Given the description of an element on the screen output the (x, y) to click on. 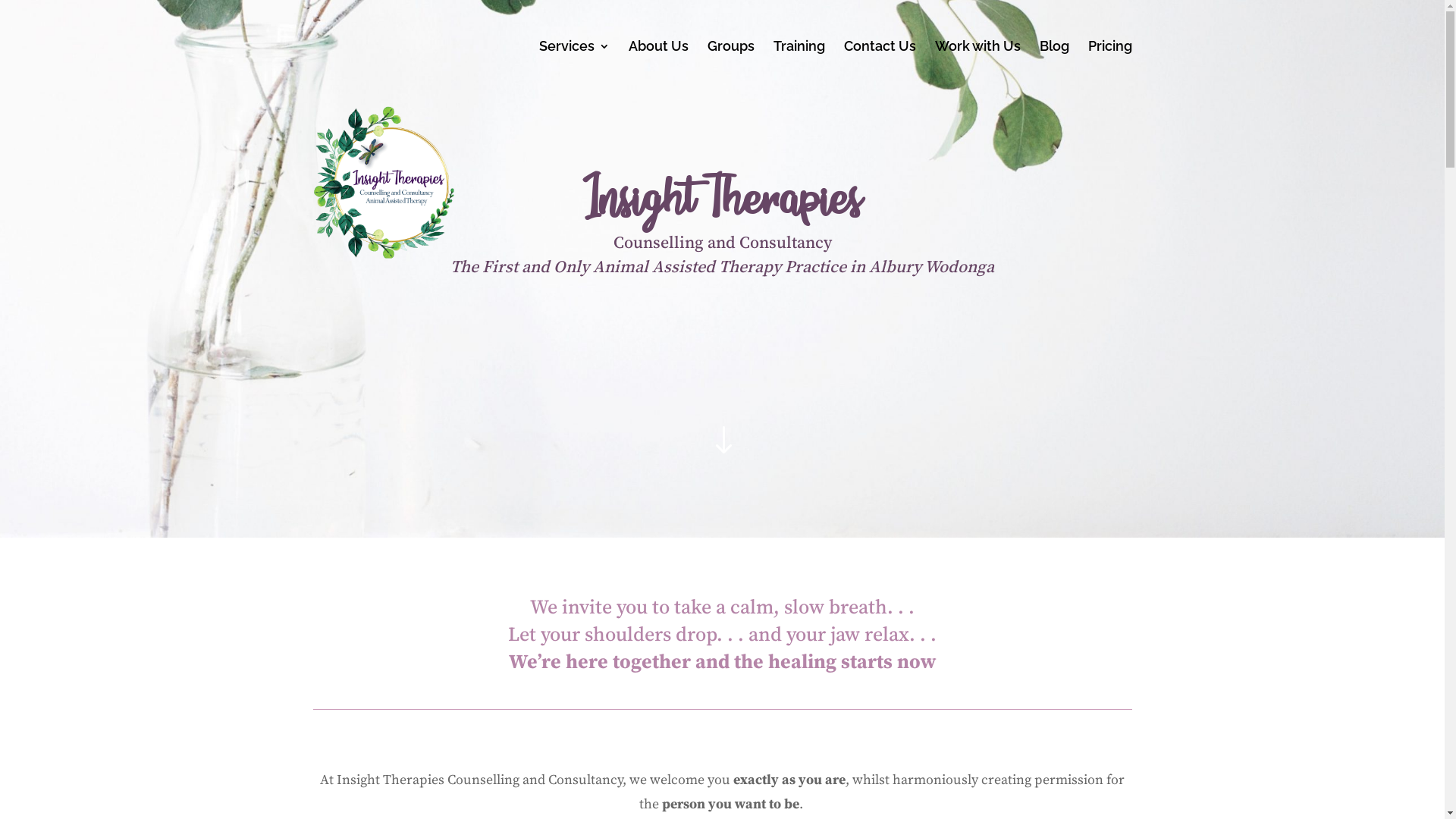
Contact Us Element type: text (879, 66)
" Element type: text (721, 441)
Work with Us Element type: text (976, 66)
About Us Element type: text (657, 66)
Groups Element type: text (729, 66)
Services Element type: text (573, 66)
Blog Element type: text (1053, 66)
Training Element type: text (799, 66)
Pricing Element type: text (1109, 66)
